Given the description of an element on the screen output the (x, y) to click on. 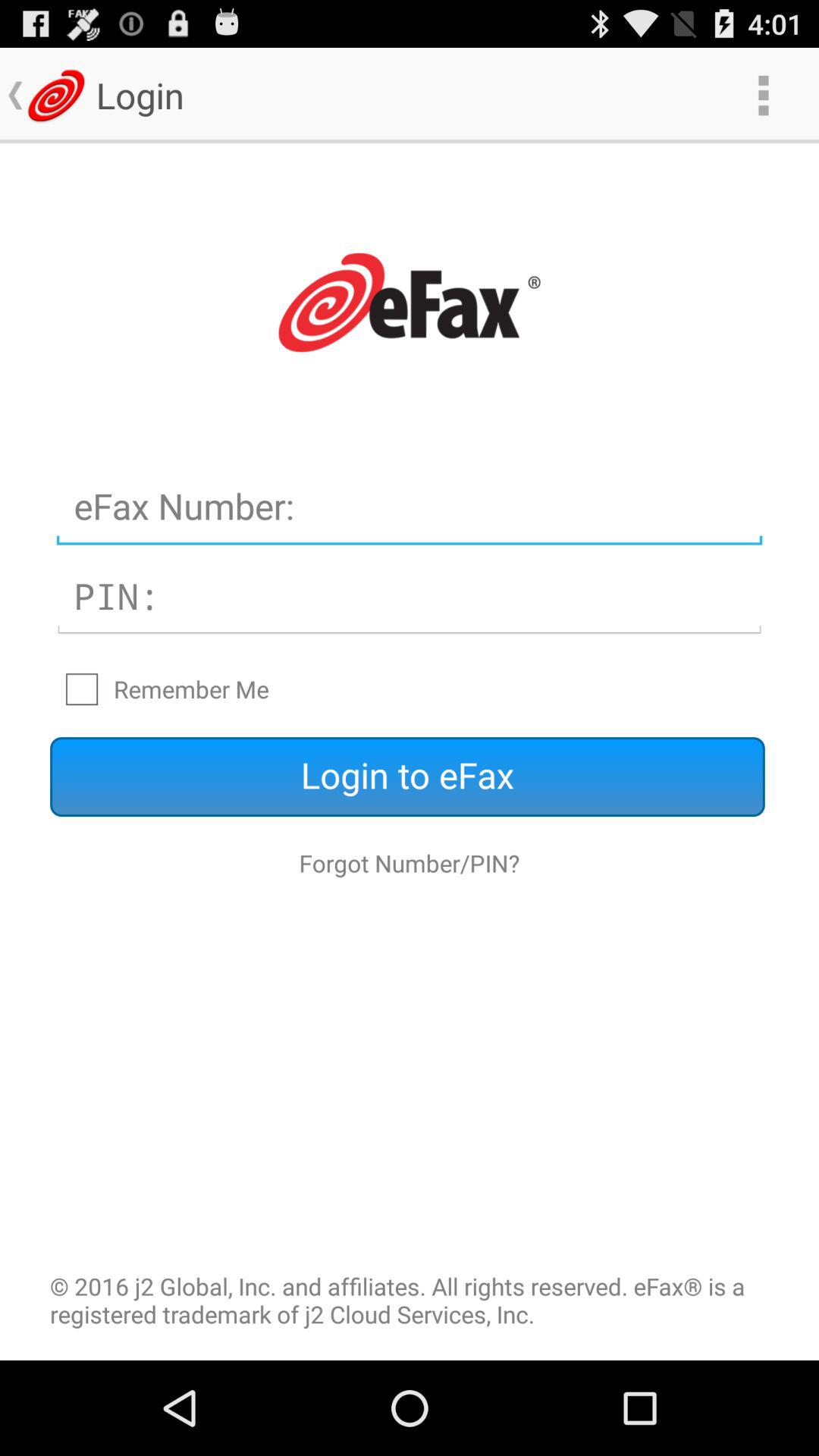
select the icon above forgot number/pin? icon (407, 776)
